Given the description of an element on the screen output the (x, y) to click on. 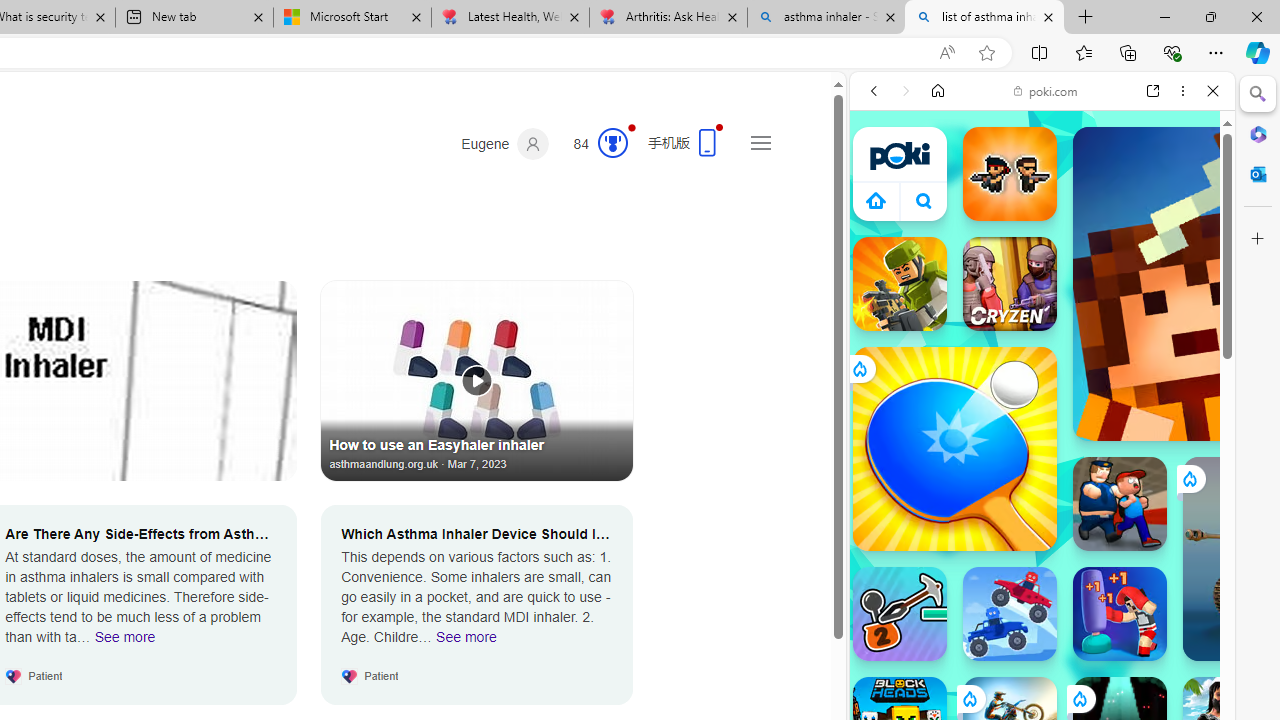
Ping Pong Go! (954, 448)
Class: B_5ykBA46kDOxiz_R9wm (923, 200)
Web scope (882, 180)
Ping Pong Go! Ping Pong Go! (954, 448)
Car Games (1042, 469)
Car Games (1042, 470)
Animation (632, 127)
list of asthma inhalers uk - Search (984, 17)
Two Player Games (1042, 567)
Cryzen.io Cryzen.io (1009, 283)
Open link in new tab (1153, 91)
